Given the description of an element on the screen output the (x, y) to click on. 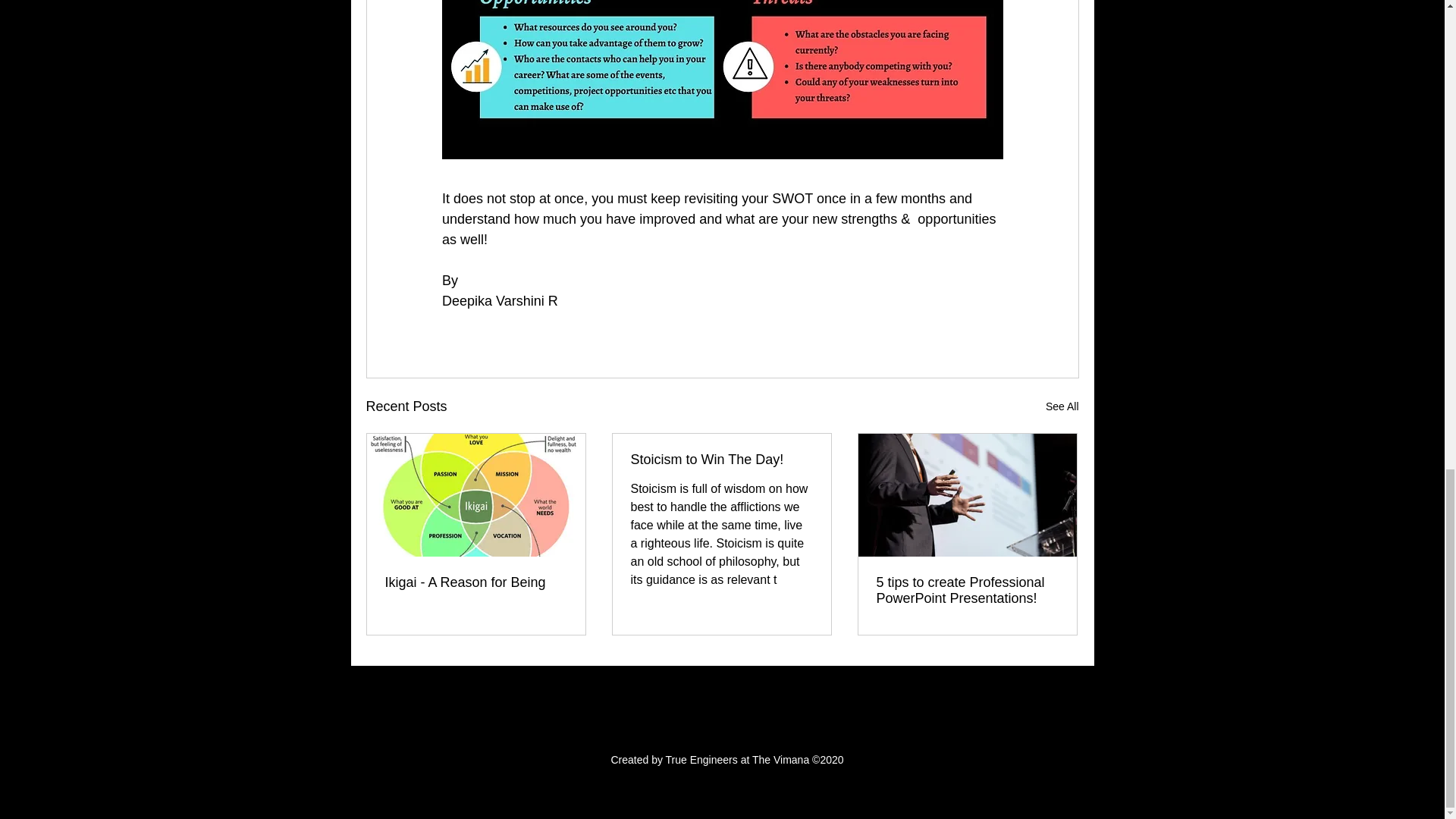
Stoicism to Win The Day! (721, 459)
5 tips to create Professional PowerPoint Presentations! (967, 590)
Ikigai - A Reason for Being (476, 582)
See All (1061, 406)
